Given the description of an element on the screen output the (x, y) to click on. 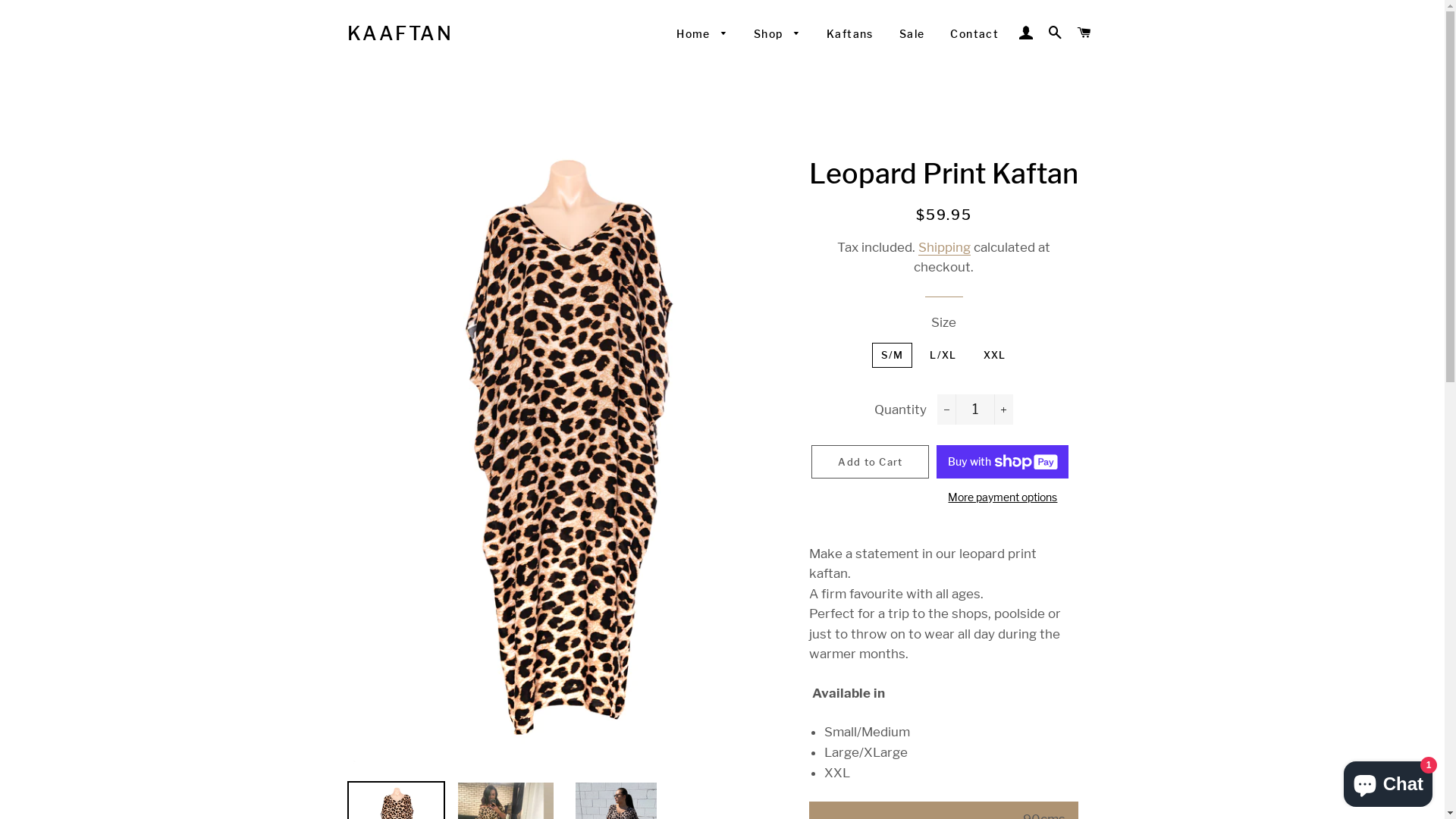
Search Element type: text (1055, 33)
Cart Element type: text (1084, 33)
Home Element type: text (702, 33)
Shipping Element type: text (944, 247)
Add to Cart Element type: text (869, 461)
Contact Element type: text (974, 33)
Shop Element type: text (777, 33)
More payment options Element type: text (1002, 497)
Log In Element type: text (1025, 33)
+ Element type: text (1003, 409)
Shopify online store chat Element type: hover (1388, 780)
KAAFTAN Element type: text (400, 33)
Kaftans Element type: text (849, 33)
Sale Element type: text (912, 33)
